Given the description of an element on the screen output the (x, y) to click on. 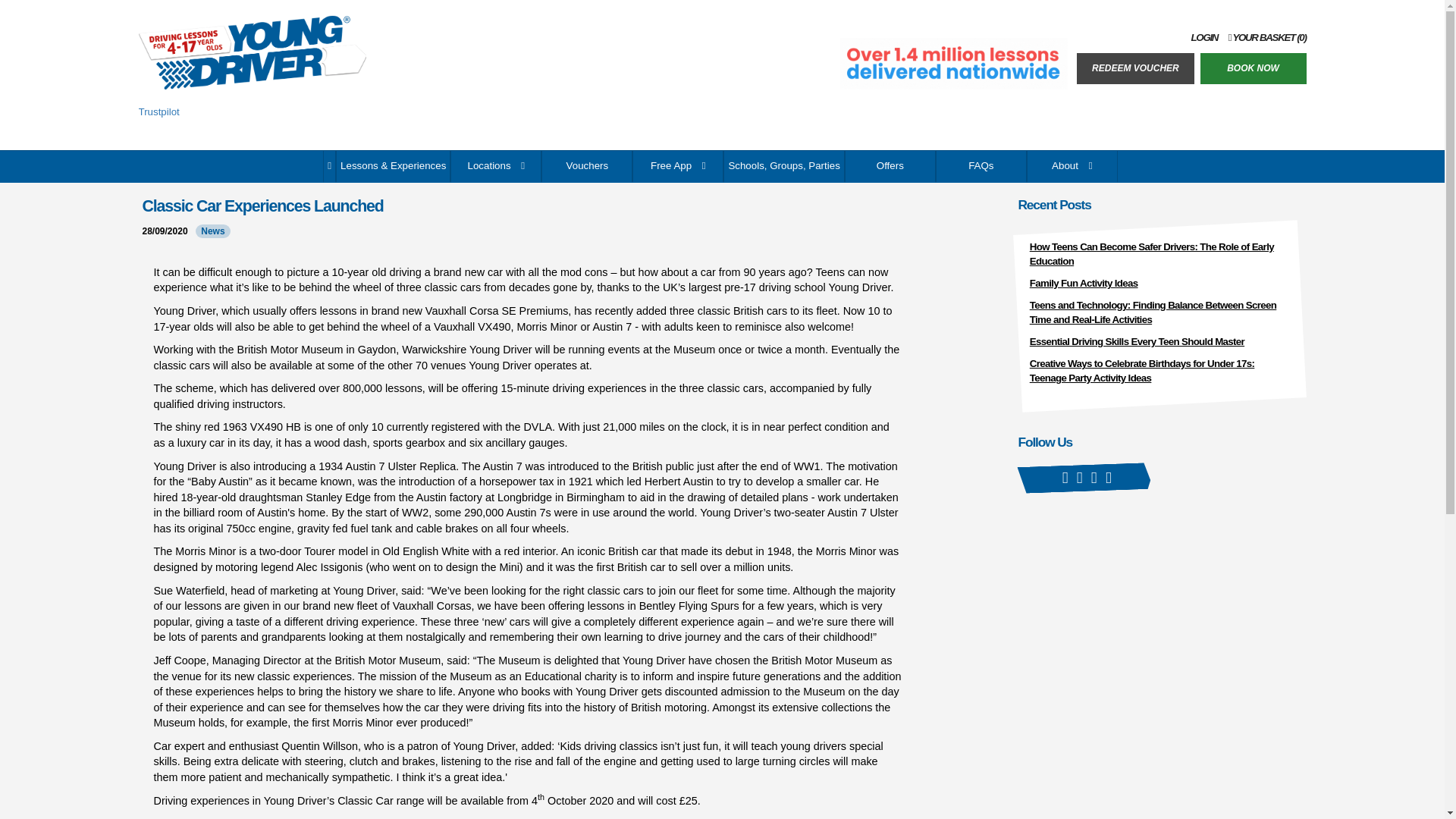
Locations (495, 166)
LOGIN (1204, 37)
Vouchers (586, 166)
FAQs (981, 166)
About (1072, 166)
REDEEM VOUCHER (1135, 68)
Free App (677, 166)
Trustpilot (158, 111)
BOOK NOW (1252, 68)
Schools, Groups, Parties (783, 166)
